Given the description of an element on the screen output the (x, y) to click on. 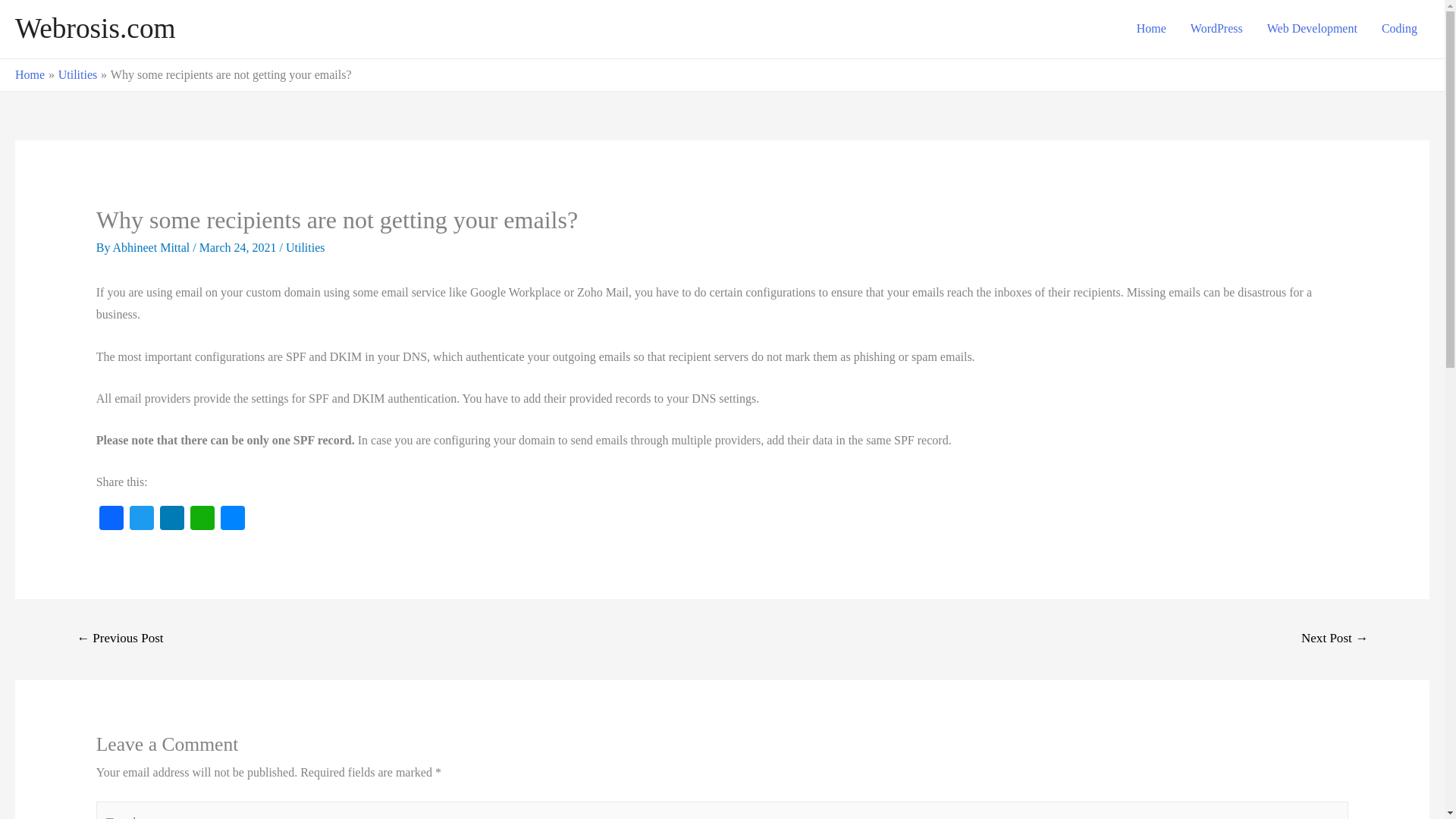
Webrosis.com (95, 28)
Facebook Messenger (231, 519)
Abhineet Mittal (153, 246)
Utilities (304, 246)
Twitter (141, 519)
WordPress (1216, 28)
WhatsApp (201, 519)
Messenger (231, 519)
Coding (1399, 28)
LinkedIn (172, 519)
Web Development (1312, 28)
Twitter (141, 519)
View all posts by Abhineet Mittal (153, 246)
LinkedIn (172, 519)
Utilities (77, 74)
